Given the description of an element on the screen output the (x, y) to click on. 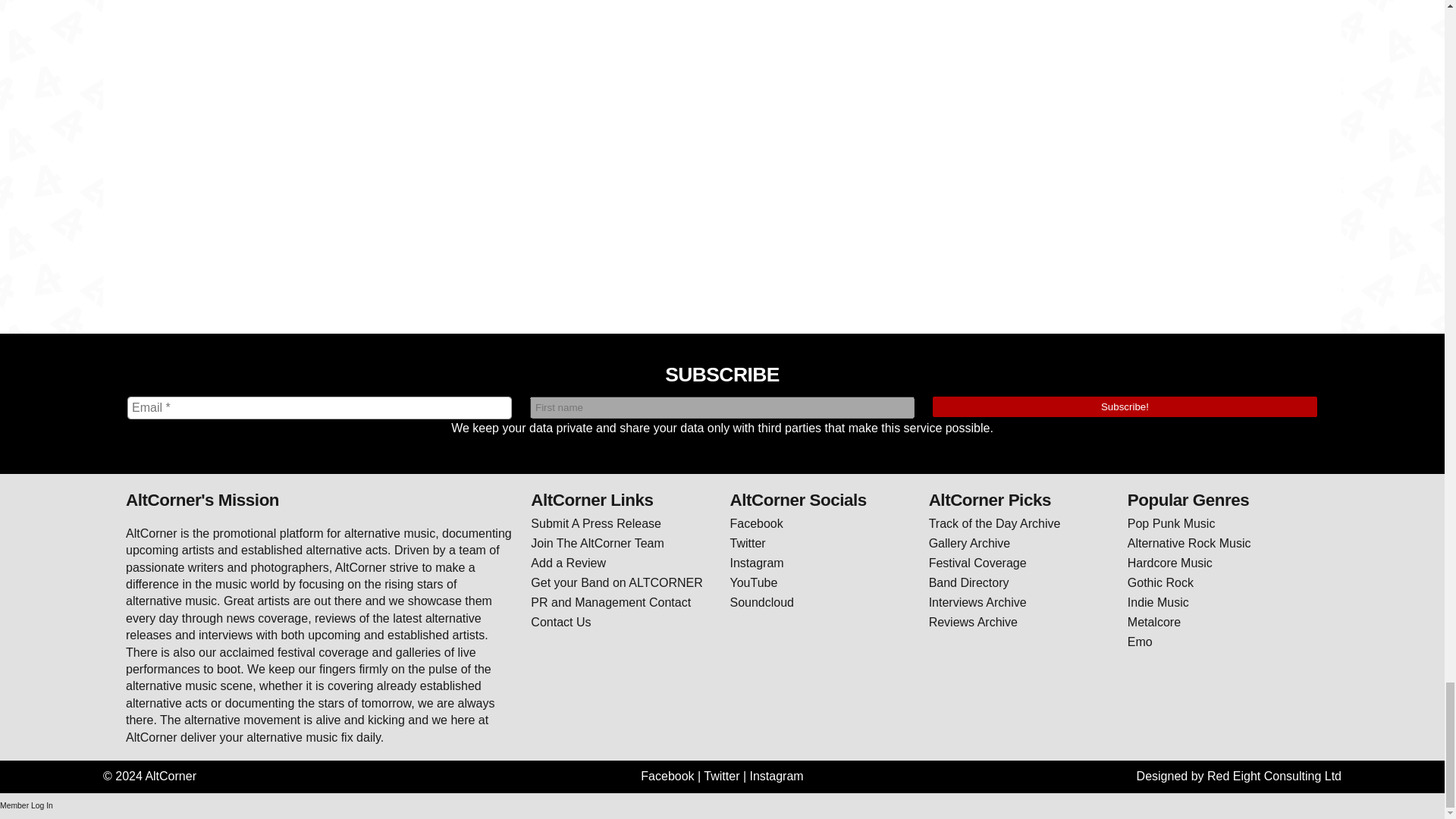
First name (721, 407)
Subscribe! (1125, 406)
Email (320, 407)
